Given the description of an element on the screen output the (x, y) to click on. 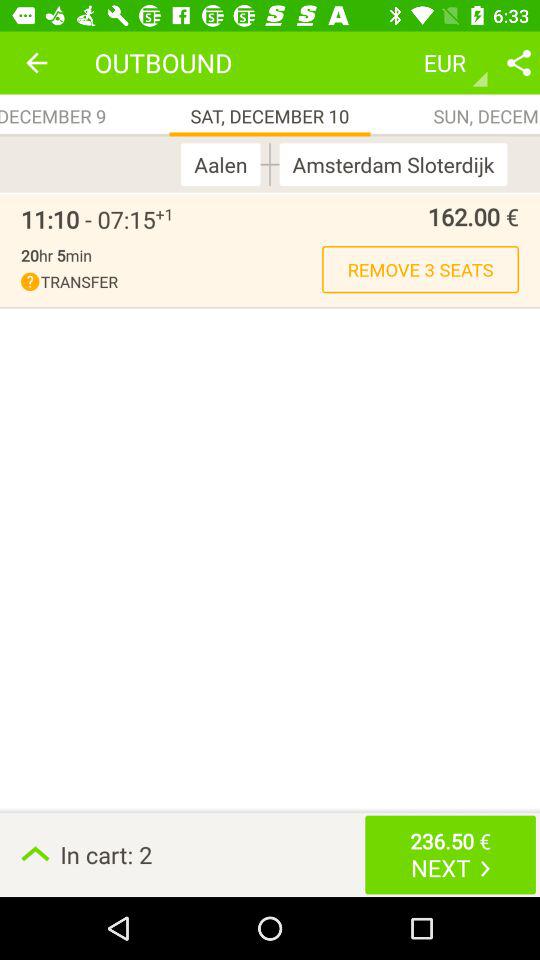
choose item to the right of 11 10 07 item (164, 214)
